Given the description of an element on the screen output the (x, y) to click on. 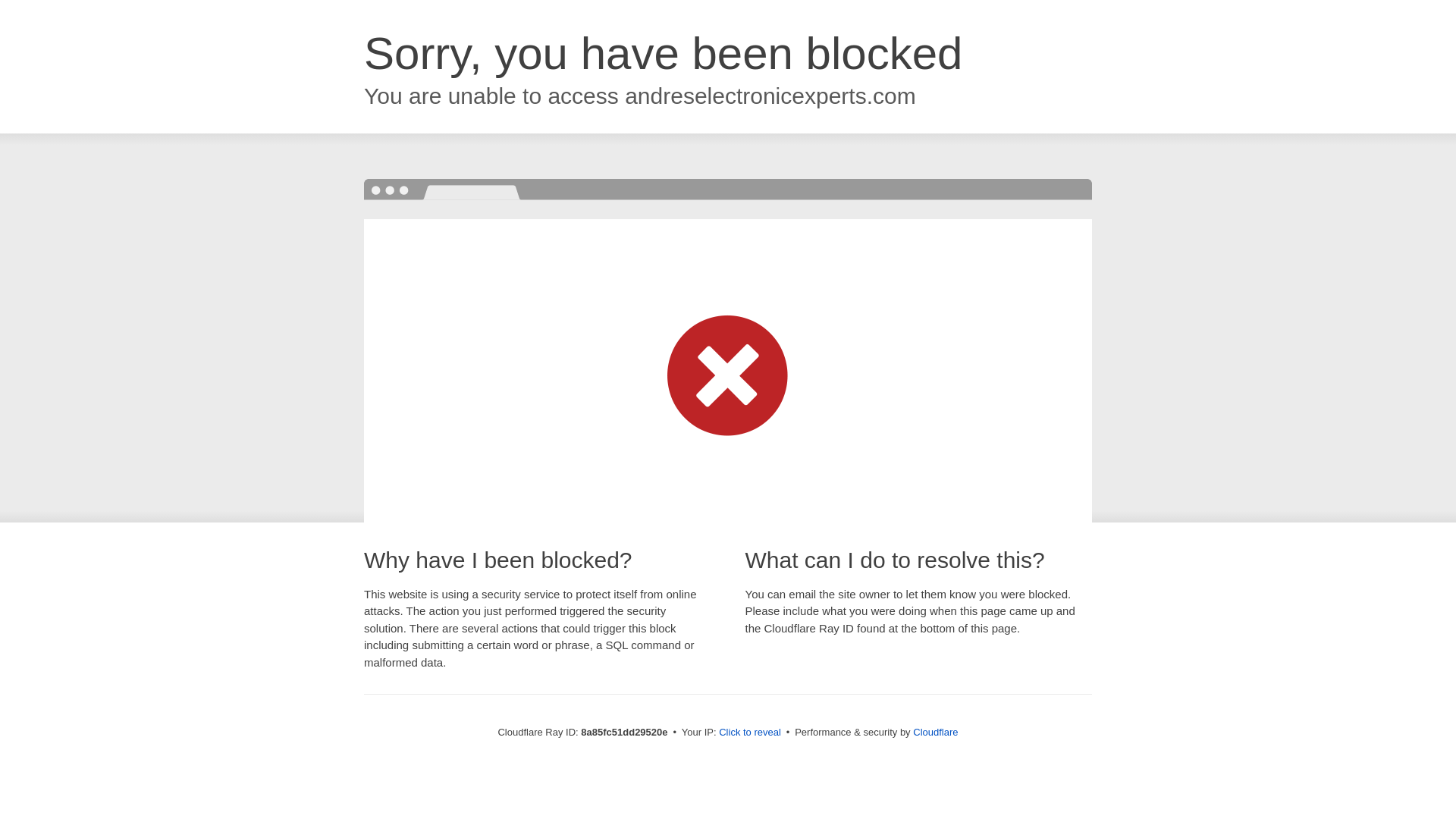
Cloudflare (935, 731)
Click to reveal (749, 732)
